Given the description of an element on the screen output the (x, y) to click on. 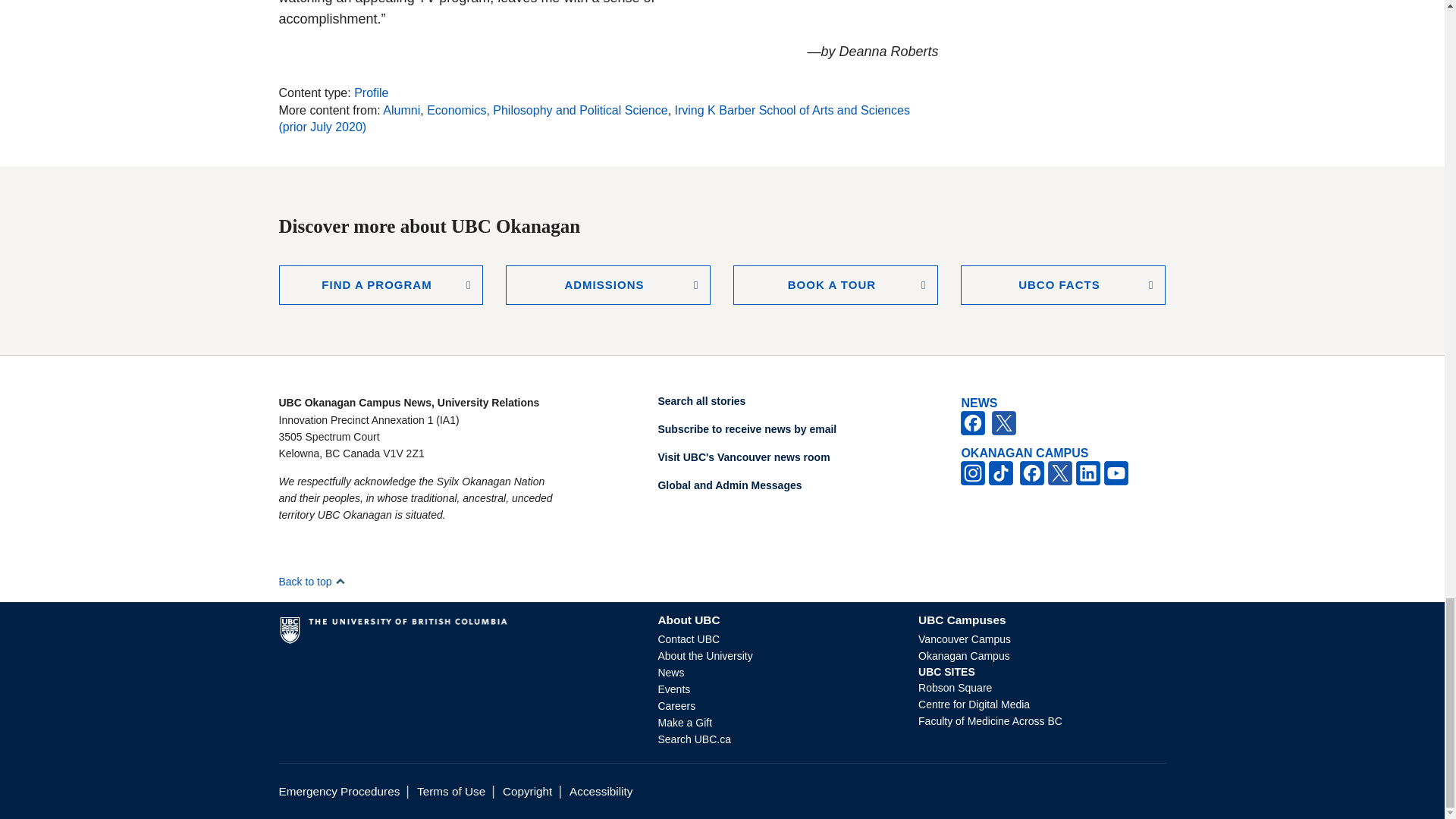
UBC Copyright (526, 790)
Back to top (312, 581)
Terms of Use (450, 790)
Emergency Procedures (339, 790)
Accessibility (600, 790)
